Given the description of an element on the screen output the (x, y) to click on. 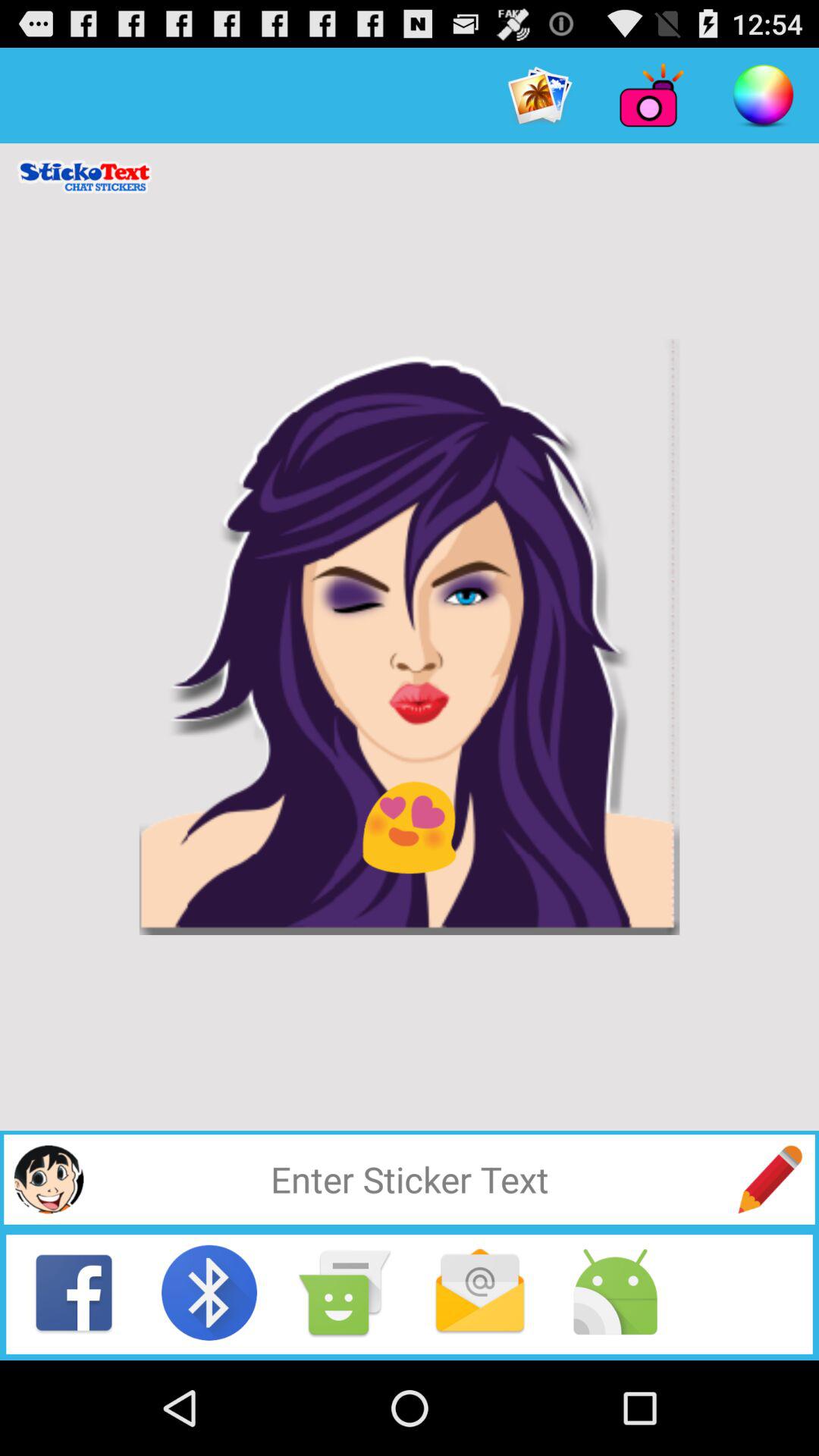
share via bluetooth (209, 1292)
